Given the description of an element on the screen output the (x, y) to click on. 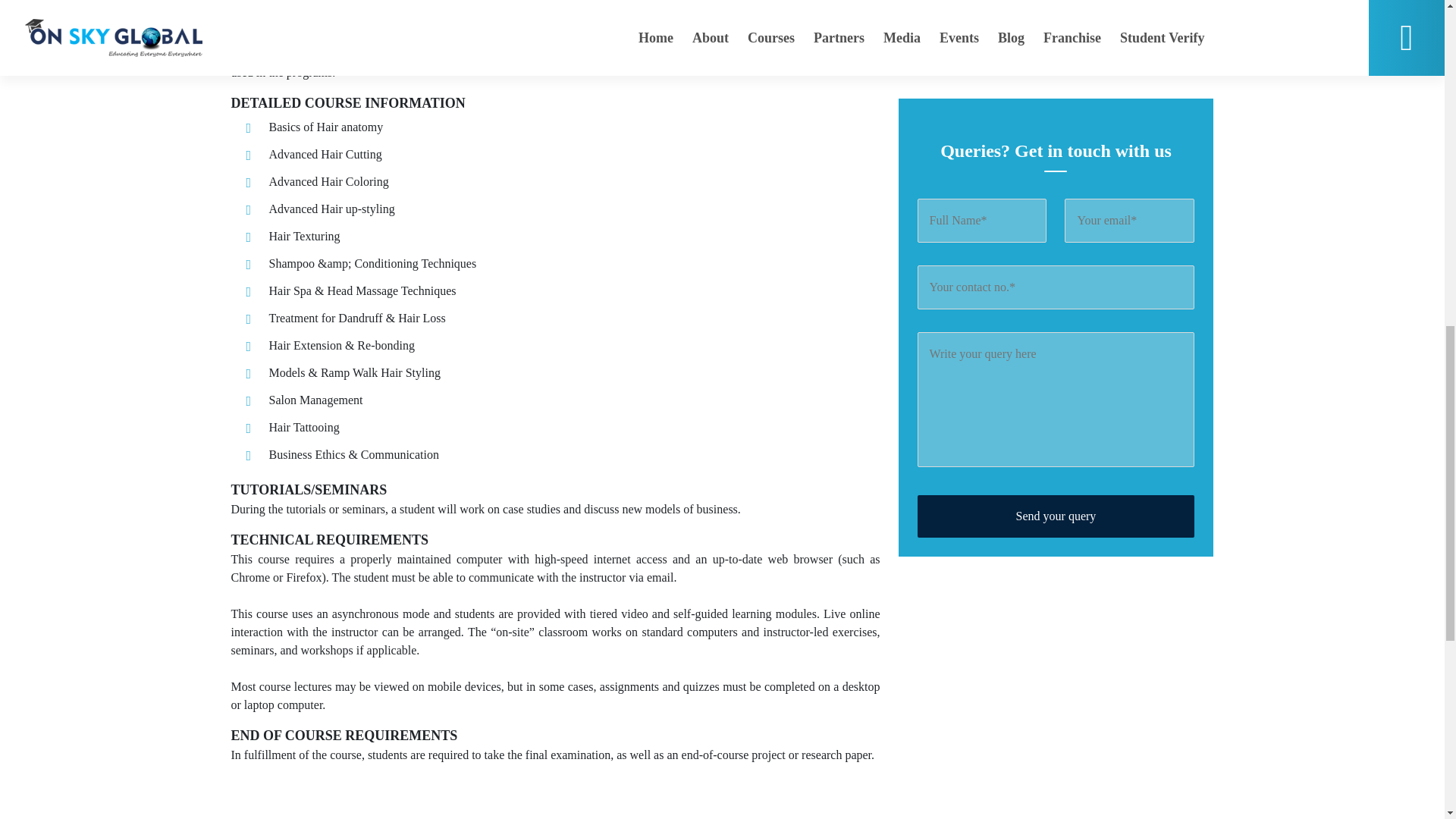
Send your query (1056, 114)
